Given the description of an element on the screen output the (x, y) to click on. 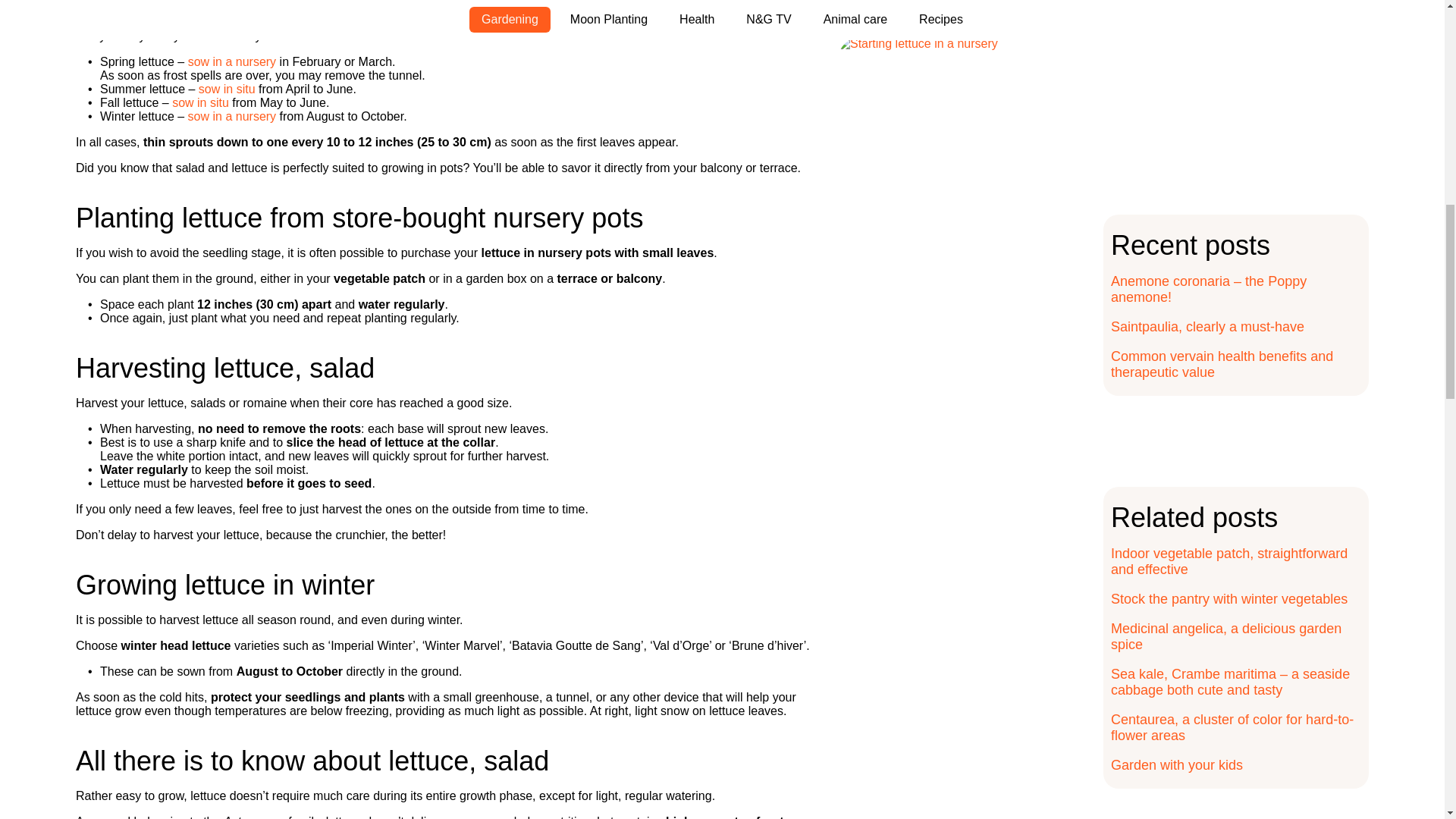
How to prepare seedlings in a nursery (231, 61)
Sowing directly in the plot, a how-to (199, 102)
Direct sowing, starting plants directly in the growing bed (227, 88)
How to start sowing in a nursery (231, 115)
